Given the description of an element on the screen output the (x, y) to click on. 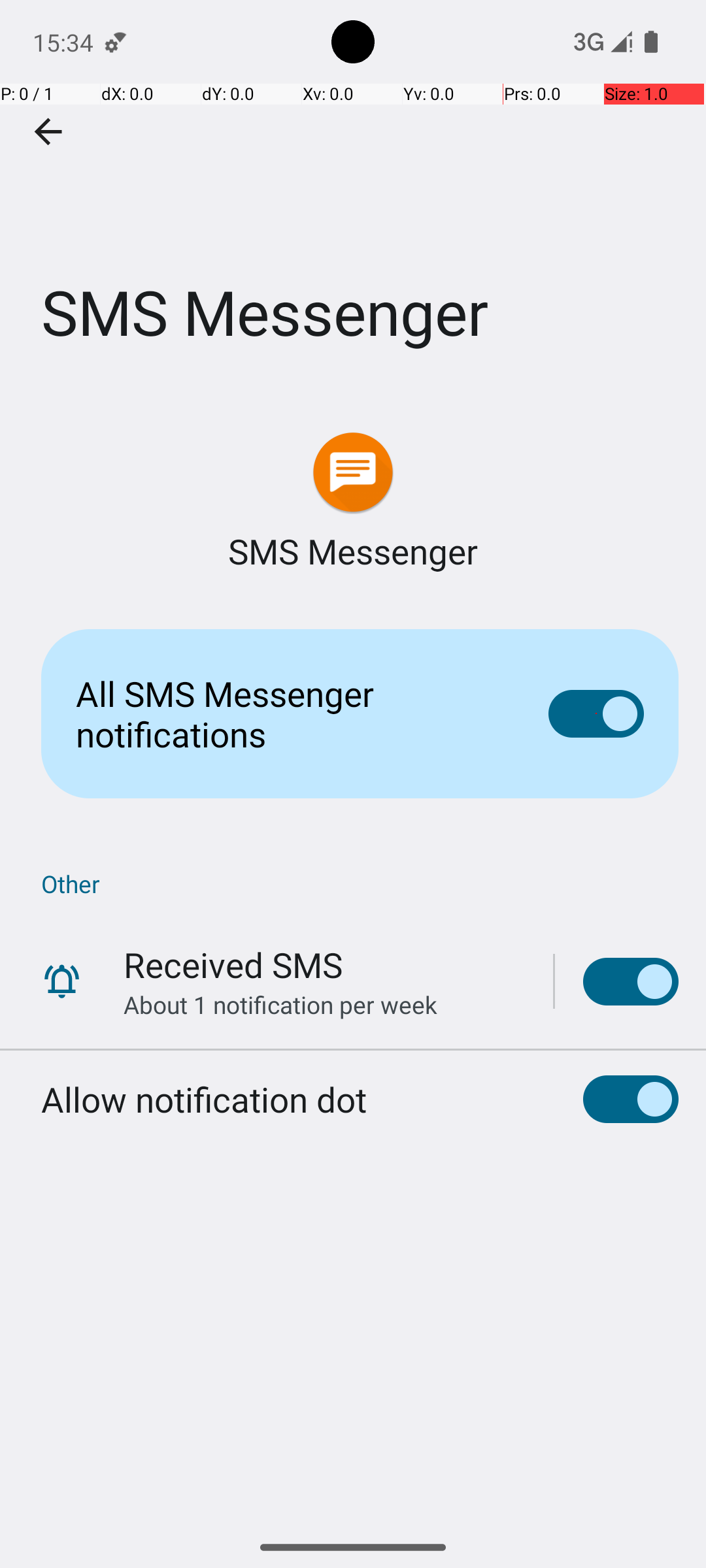
All SMS Messenger notifications Element type: android.widget.TextView (291, 713)
Received SMS Element type: android.widget.TextView (232, 964)
About 1 notification per week Element type: android.widget.TextView (280, 1004)
